Given the description of an element on the screen output the (x, y) to click on. 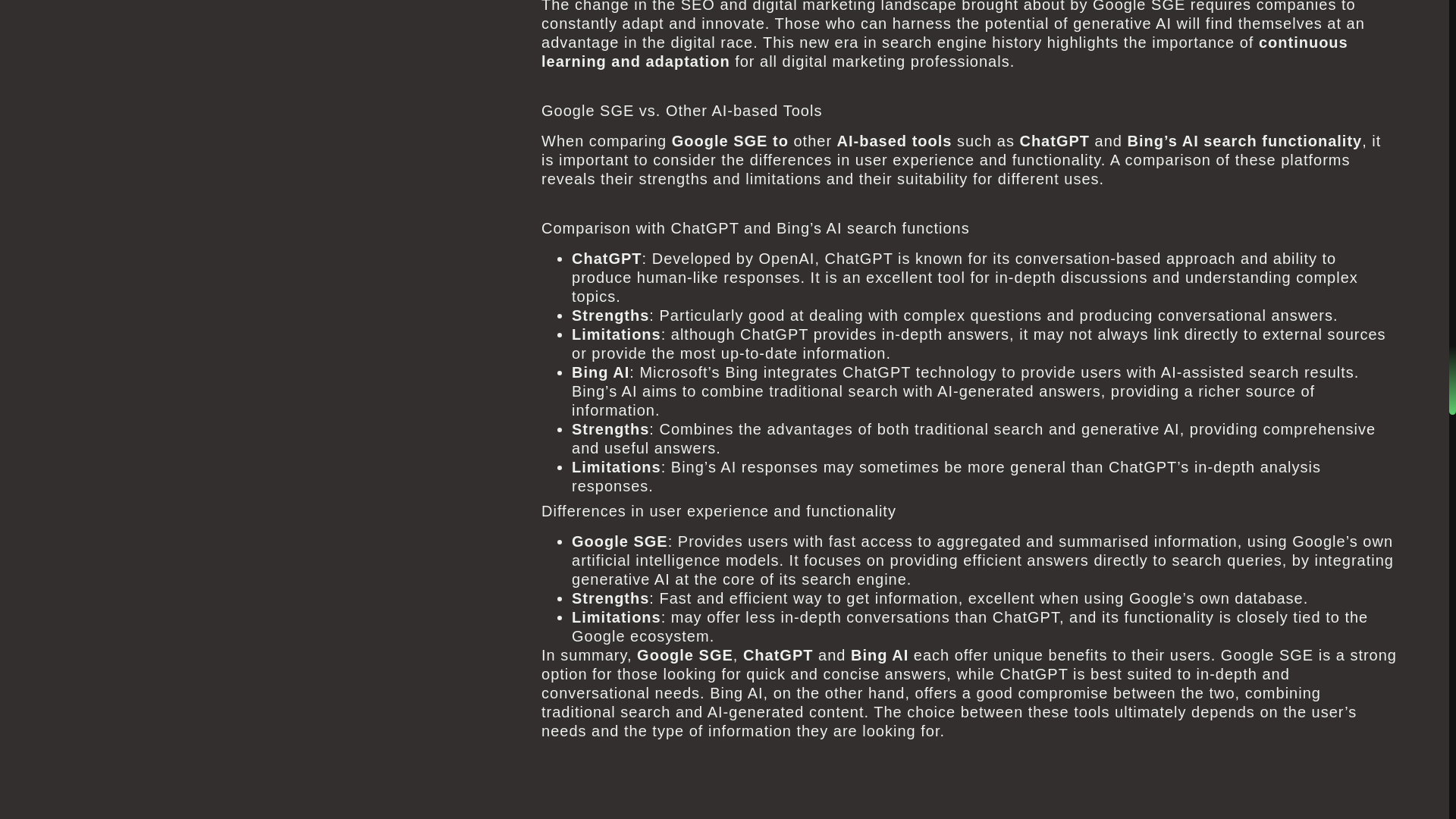
image 10 1 Google SGE - What is it? (807, 795)
